Given the description of an element on the screen output the (x, y) to click on. 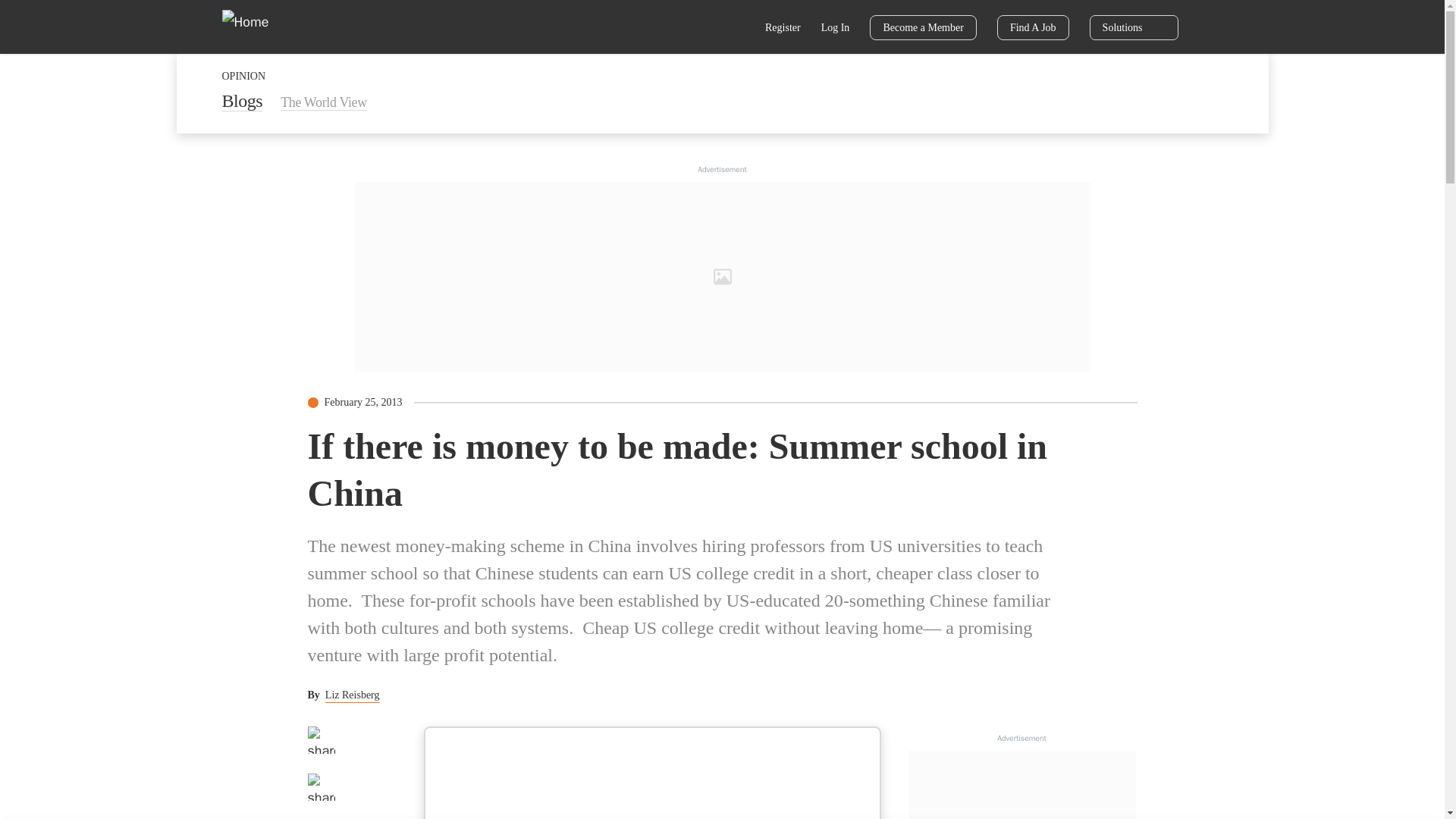
share to facebook (320, 739)
Find A Job (1032, 27)
share to twitter (320, 786)
Become a Member (922, 27)
Home (255, 26)
Search (736, 28)
